Given the description of an element on the screen output the (x, y) to click on. 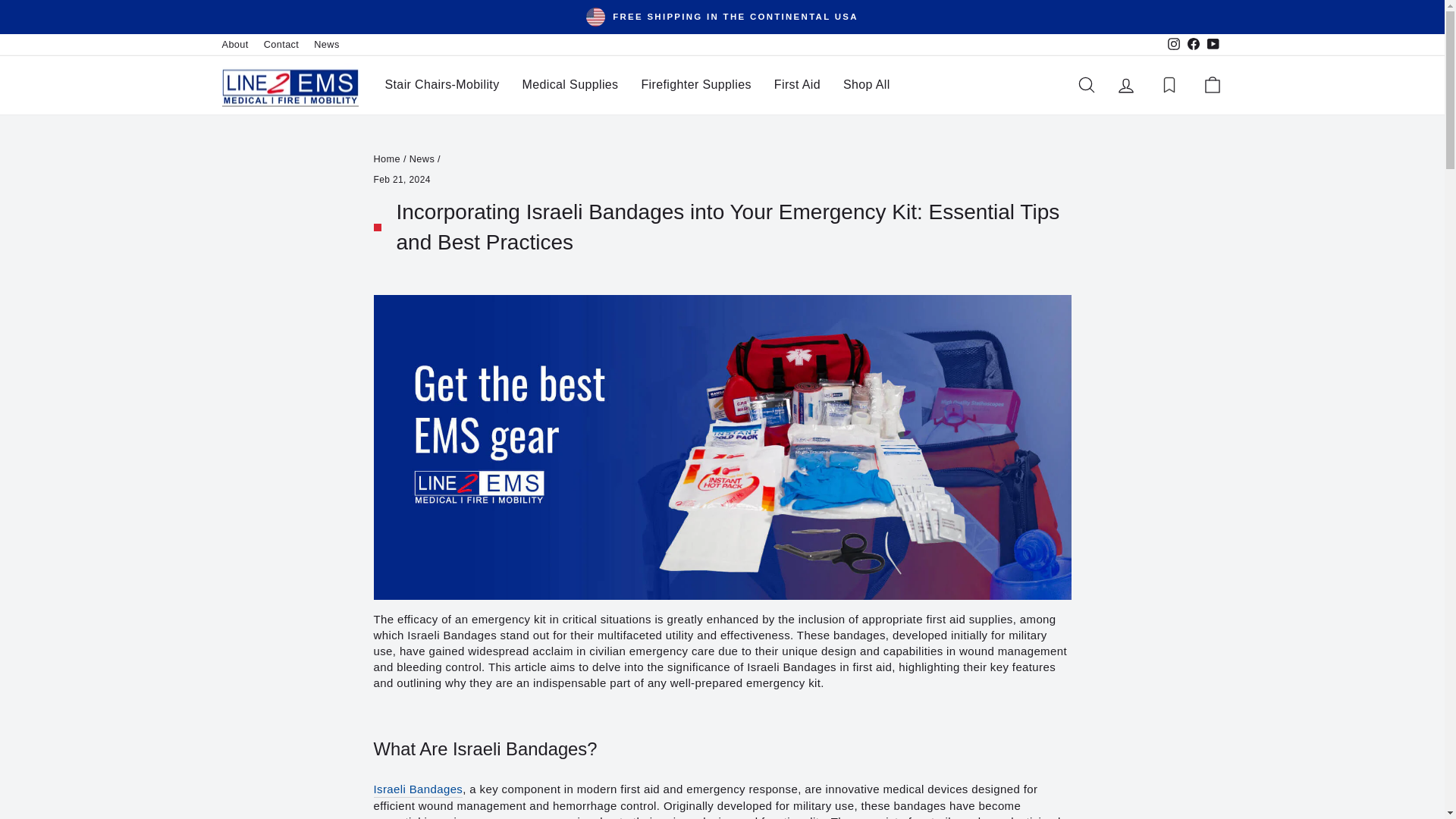
LINE2EMS  on Instagram (1172, 44)
Back to the frontpage (386, 158)
icon-search (1086, 84)
account (1126, 85)
icon-bag-minimal (1212, 84)
LINE2EMS  on YouTube (1212, 44)
LINE2EMS  on Facebook (1192, 44)
FREE SHIPPING IN THE CONTINENTAL USA (722, 16)
instagram (1173, 43)
